Given the description of an element on the screen output the (x, y) to click on. 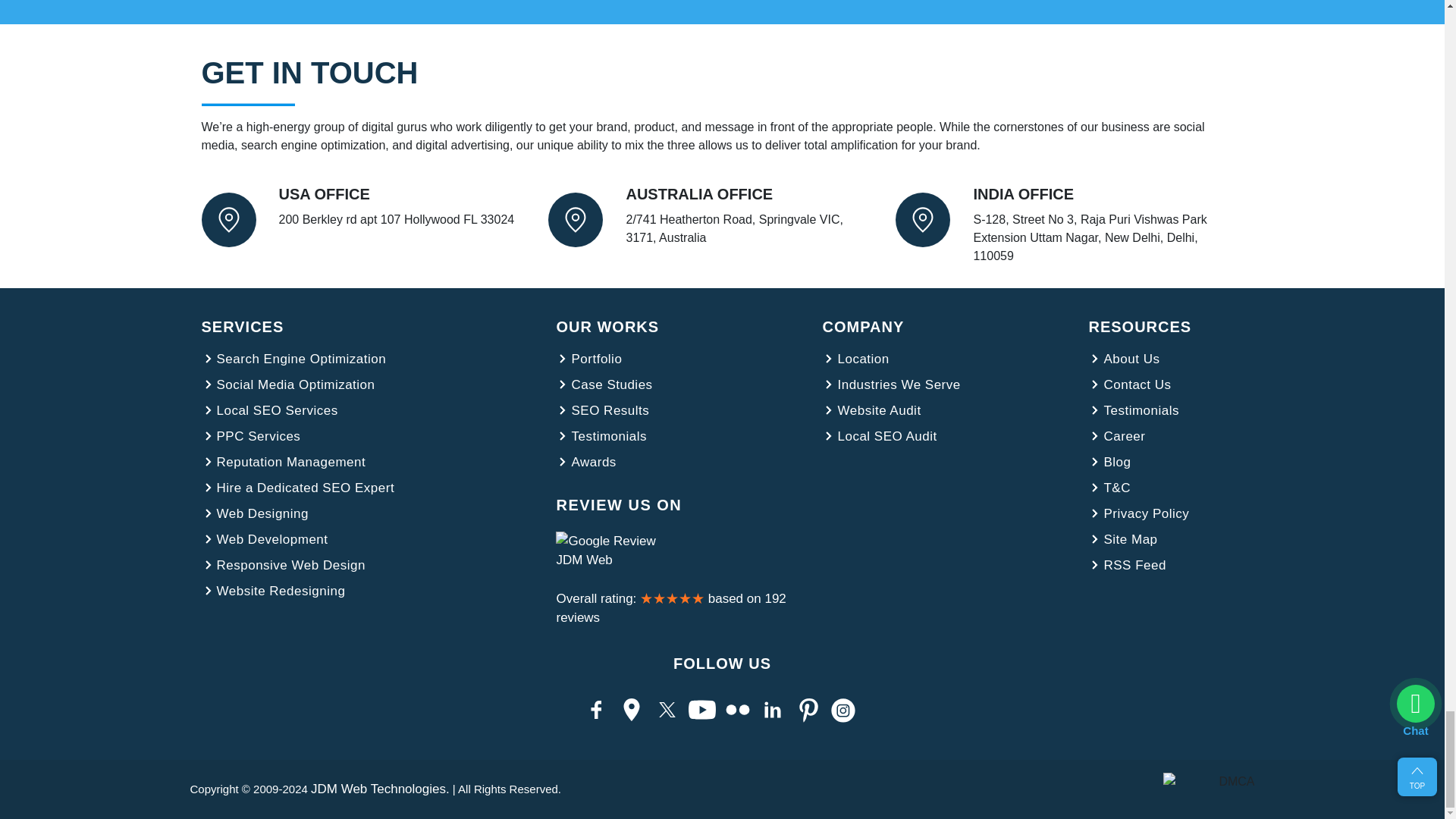
Instagram (845, 718)
LinkedIn (774, 718)
Facebook (598, 718)
Flickr (739, 718)
YouTube (704, 718)
Pinterest (810, 718)
Twitter (669, 718)
DMCA (1208, 789)
